Given the description of an element on the screen output the (x, y) to click on. 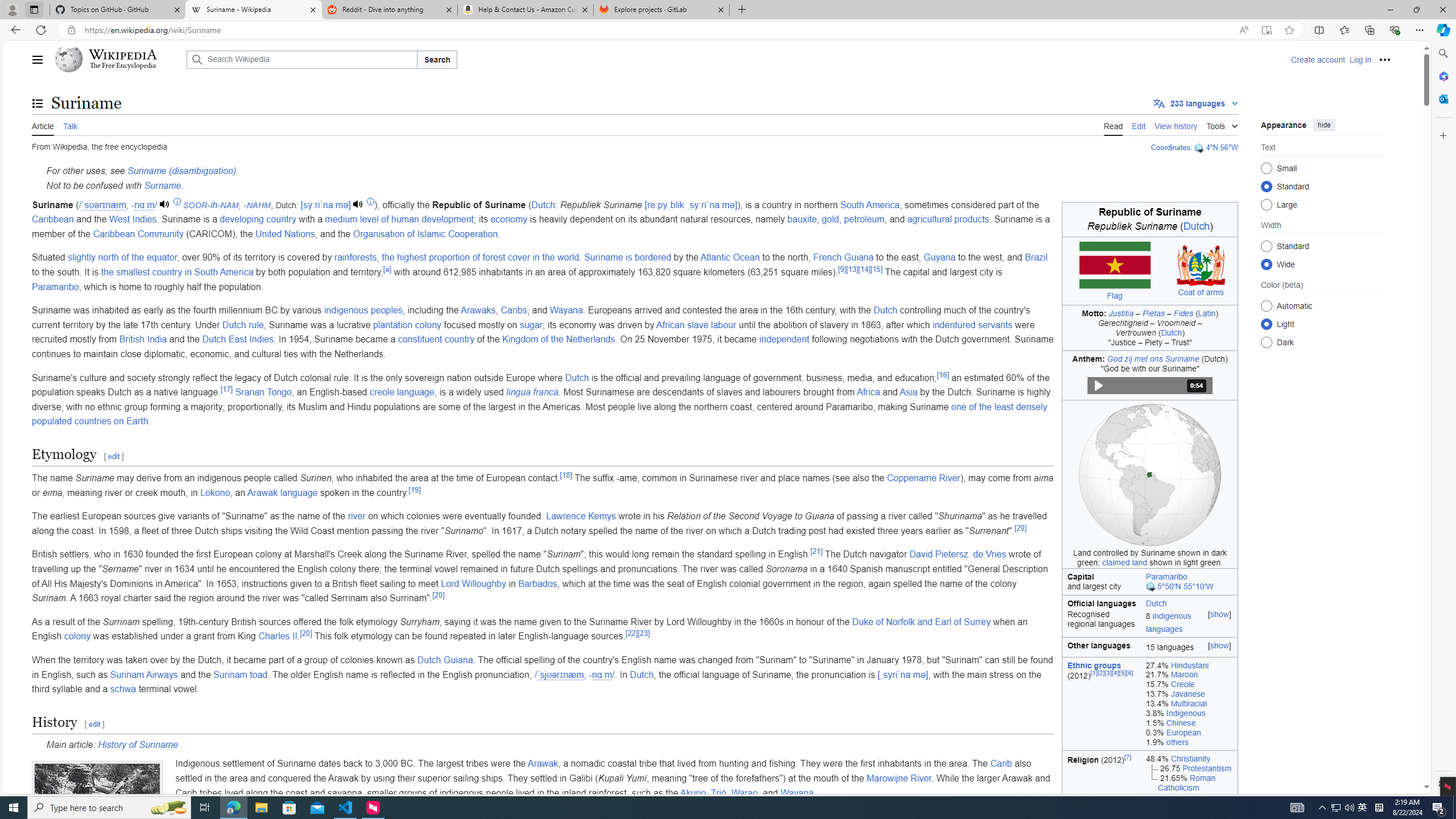
[18] (565, 474)
Dark (1266, 341)
Dutch (1189, 602)
Coppename River (923, 477)
Africa (868, 392)
creole language (401, 392)
[show] 15 languages (1189, 647)
West Indies (133, 219)
Paramaribo (55, 286)
Asia (908, 392)
Read (1112, 124)
